Given the description of an element on the screen output the (x, y) to click on. 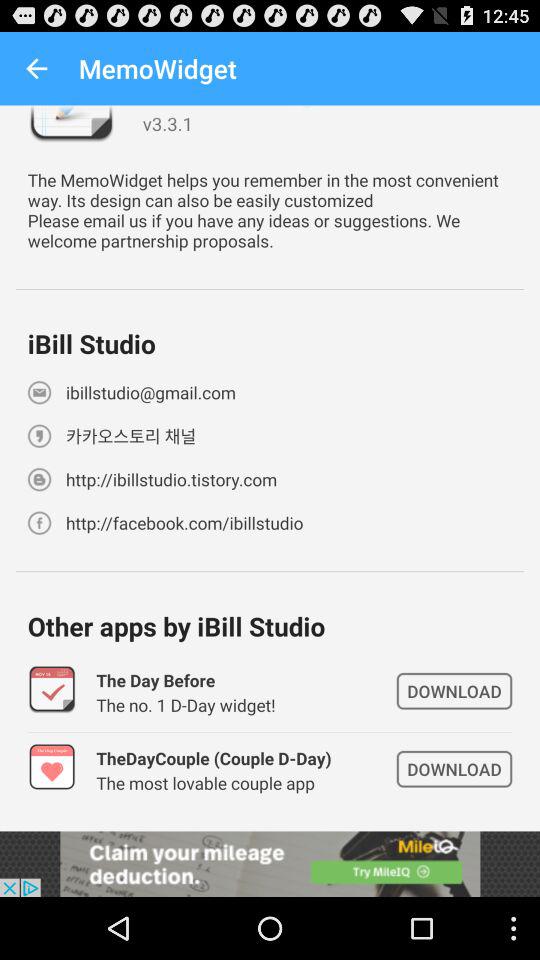
visit advertised site (270, 864)
